Given the description of an element on the screen output the (x, y) to click on. 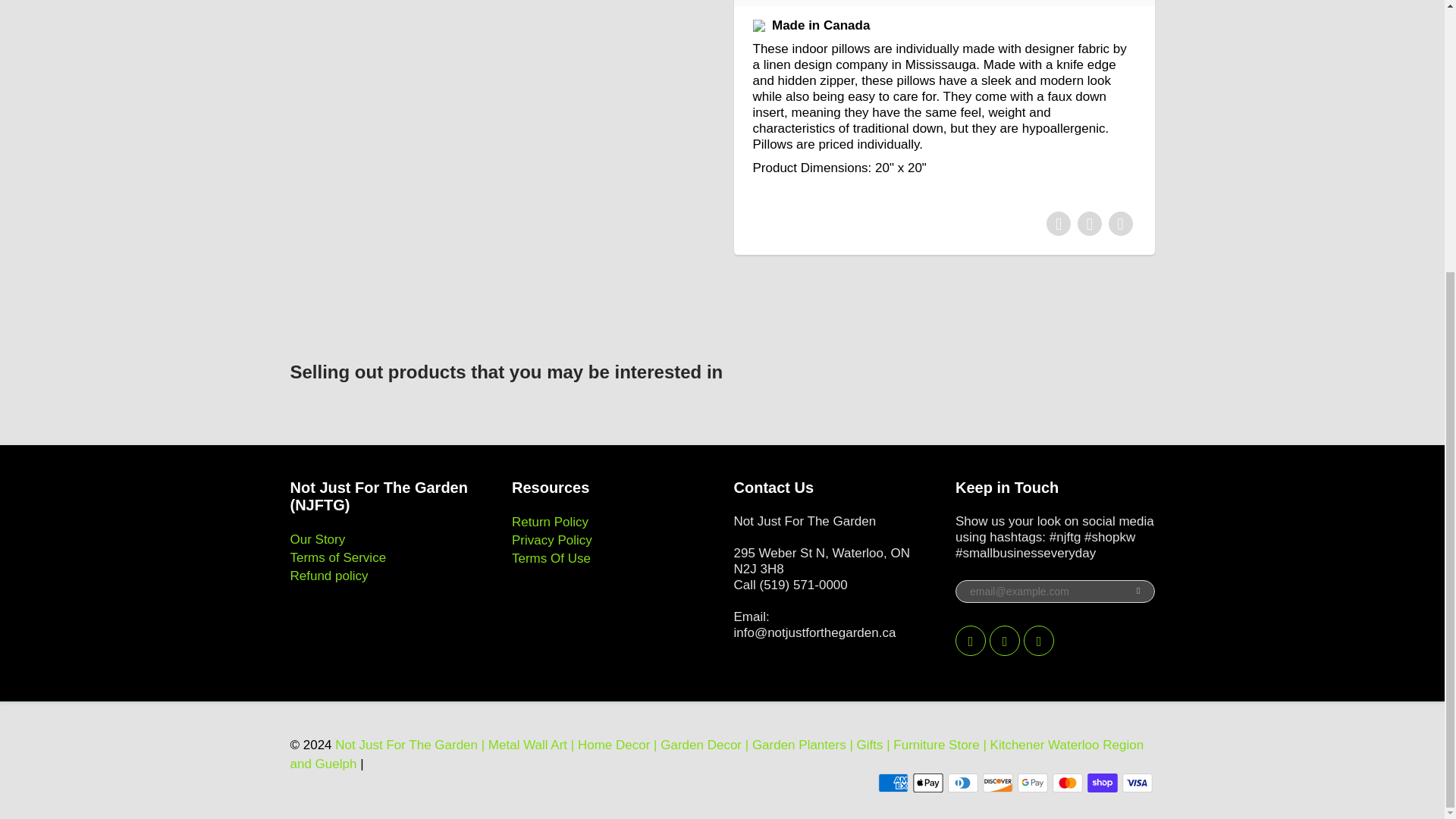
Discover (997, 782)
Shop Pay (1102, 782)
Instagram (1038, 640)
Mastercard (1067, 782)
Google Pay (1032, 782)
Pinterest (1005, 640)
Visa (1137, 782)
Apple Pay (927, 782)
American Express (892, 782)
Facebook (970, 640)
Diners Club (962, 782)
